Given the description of an element on the screen output the (x, y) to click on. 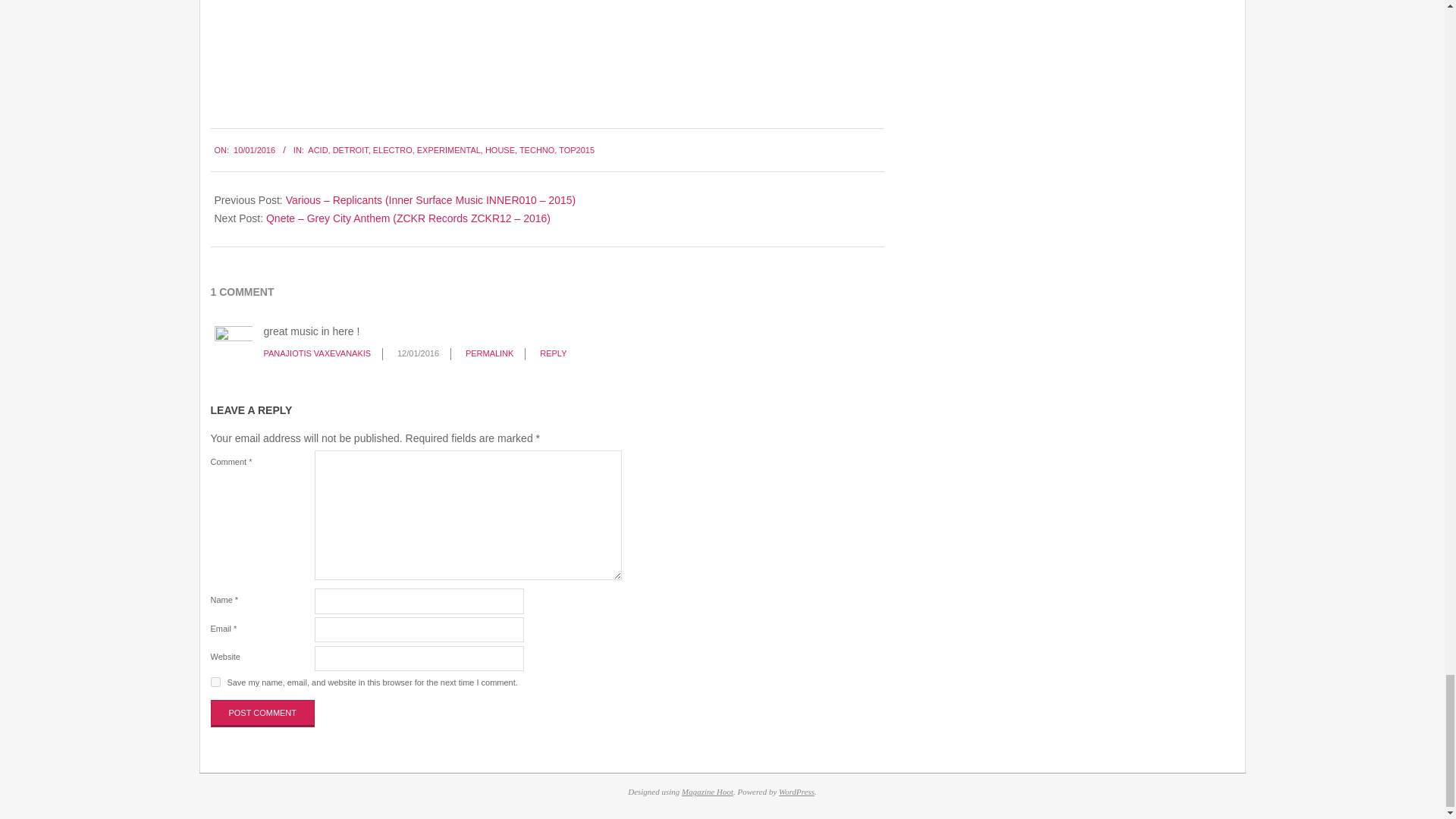
EXPERIMENTAL (448, 149)
yes (216, 682)
PANAJIOTIS VAXEVANAKIS (317, 352)
TOP2015 (576, 149)
ACID (317, 149)
ELECTRO (392, 149)
TECHNO (536, 149)
DETROIT (350, 149)
Tuesday, January 12, 2016, 8:48 pm (418, 352)
Post Comment (263, 712)
